Given the description of an element on the screen output the (x, y) to click on. 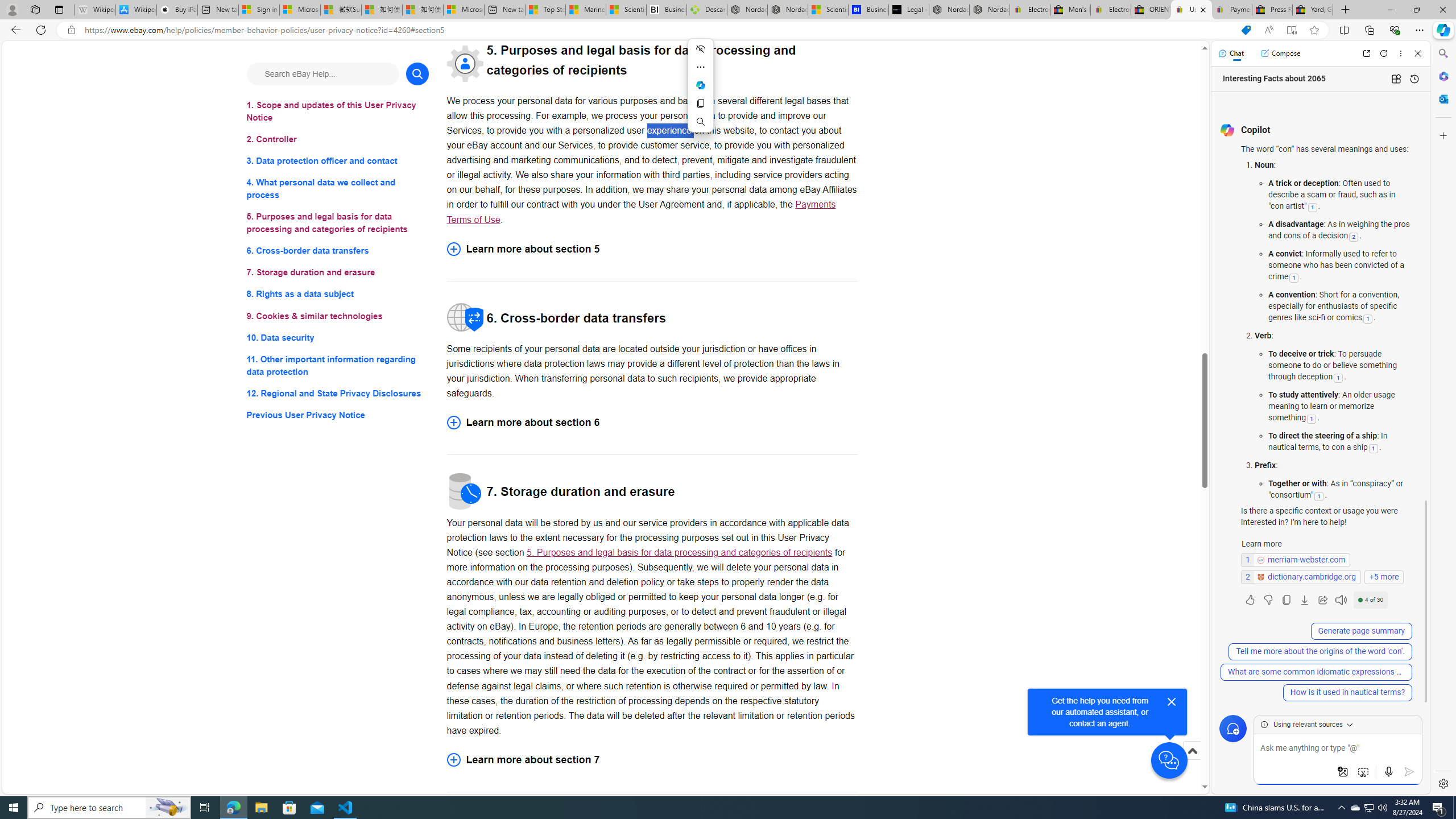
Previous User Privacy Notice (337, 414)
Learn more about section 7 (651, 759)
3. Data protection officer and contact (337, 160)
11. Other important information regarding data protection (337, 365)
2. Controller (337, 138)
Yard, Garden & Outdoor Living (1312, 9)
